Given the description of an element on the screen output the (x, y) to click on. 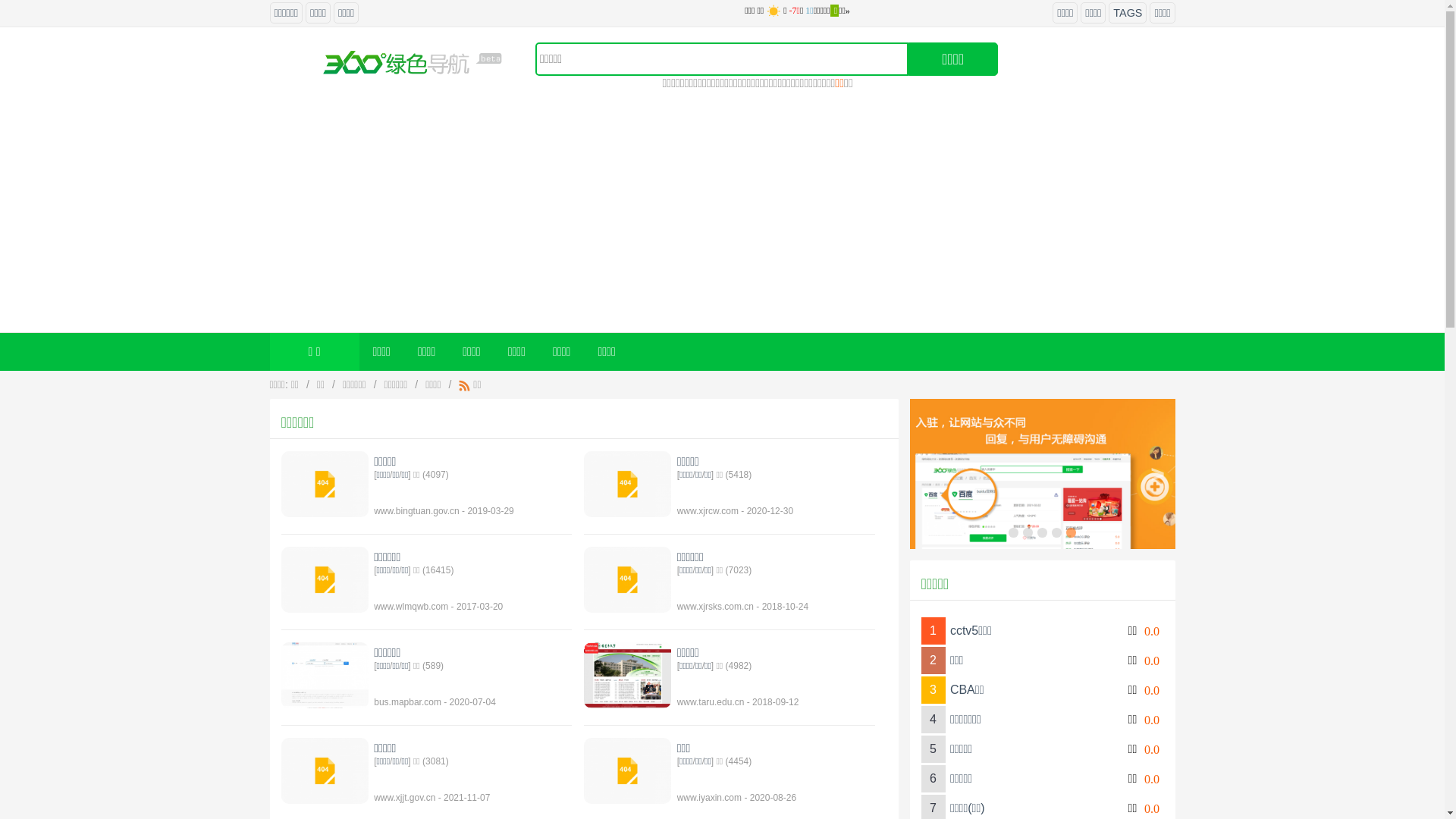
Advertisement Element type: hover (721, 217)
TAGS Element type: text (1127, 12)
